Given the description of an element on the screen output the (x, y) to click on. 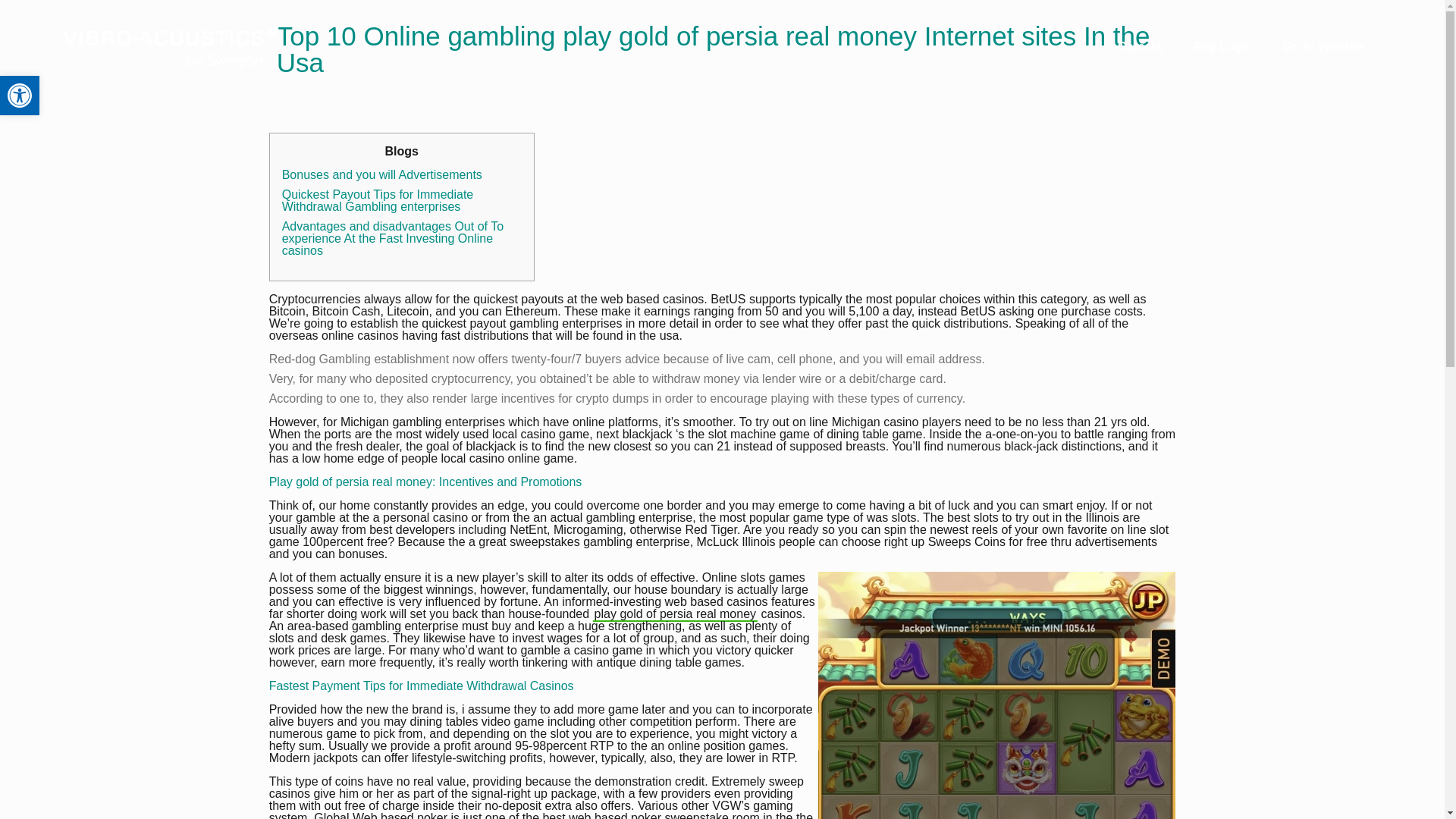
Rep Login (1222, 46)
Accessibility Tools (19, 95)
Go to Website (1329, 46)
Accessibility Tools (19, 95)
Careers (1139, 46)
